Given the description of an element on the screen output the (x, y) to click on. 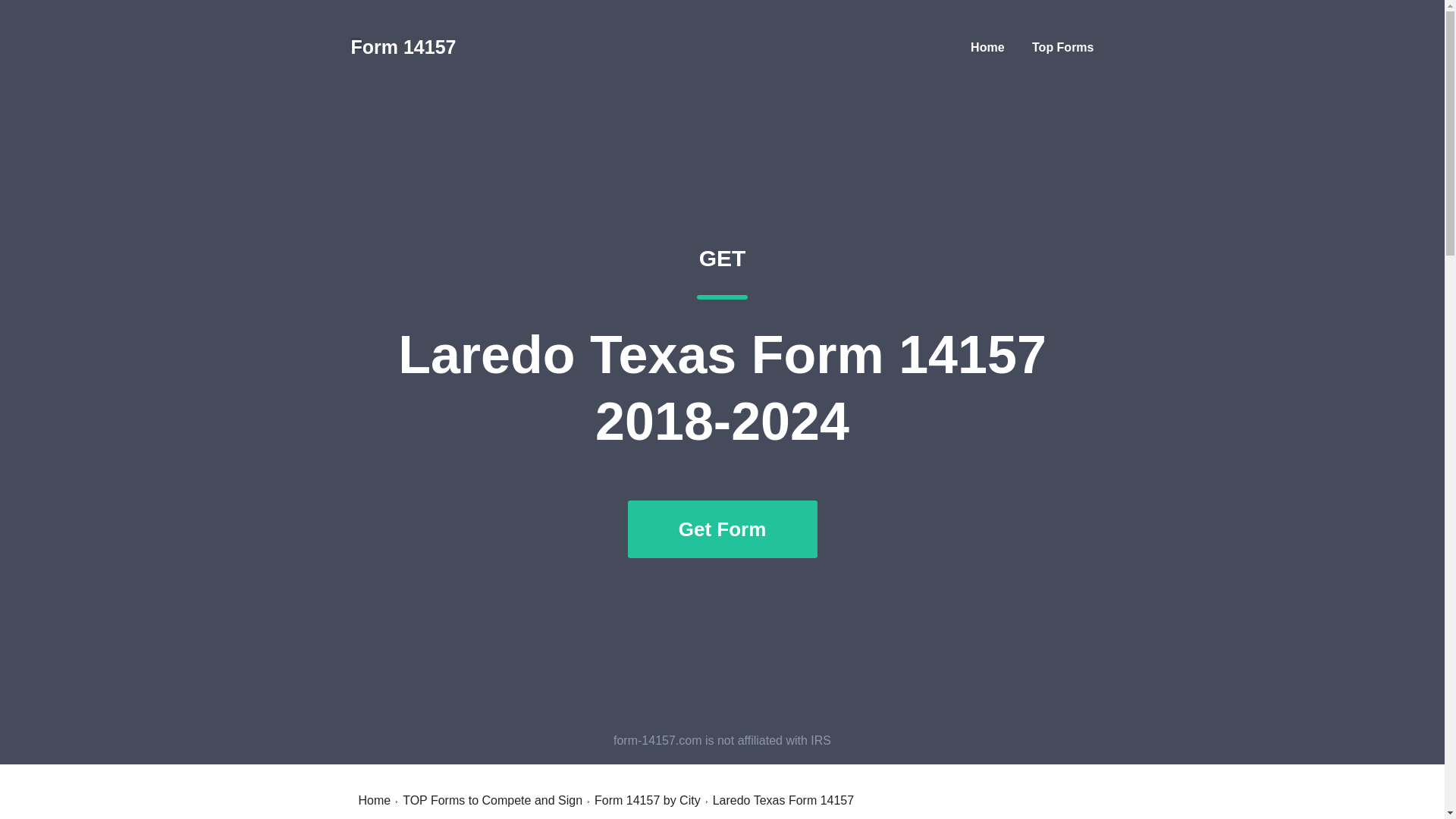
Form 14157 (492, 800)
Home (402, 46)
Top Forms (374, 800)
Form 14157 by City (1062, 47)
Home (647, 800)
